Given the description of an element on the screen output the (x, y) to click on. 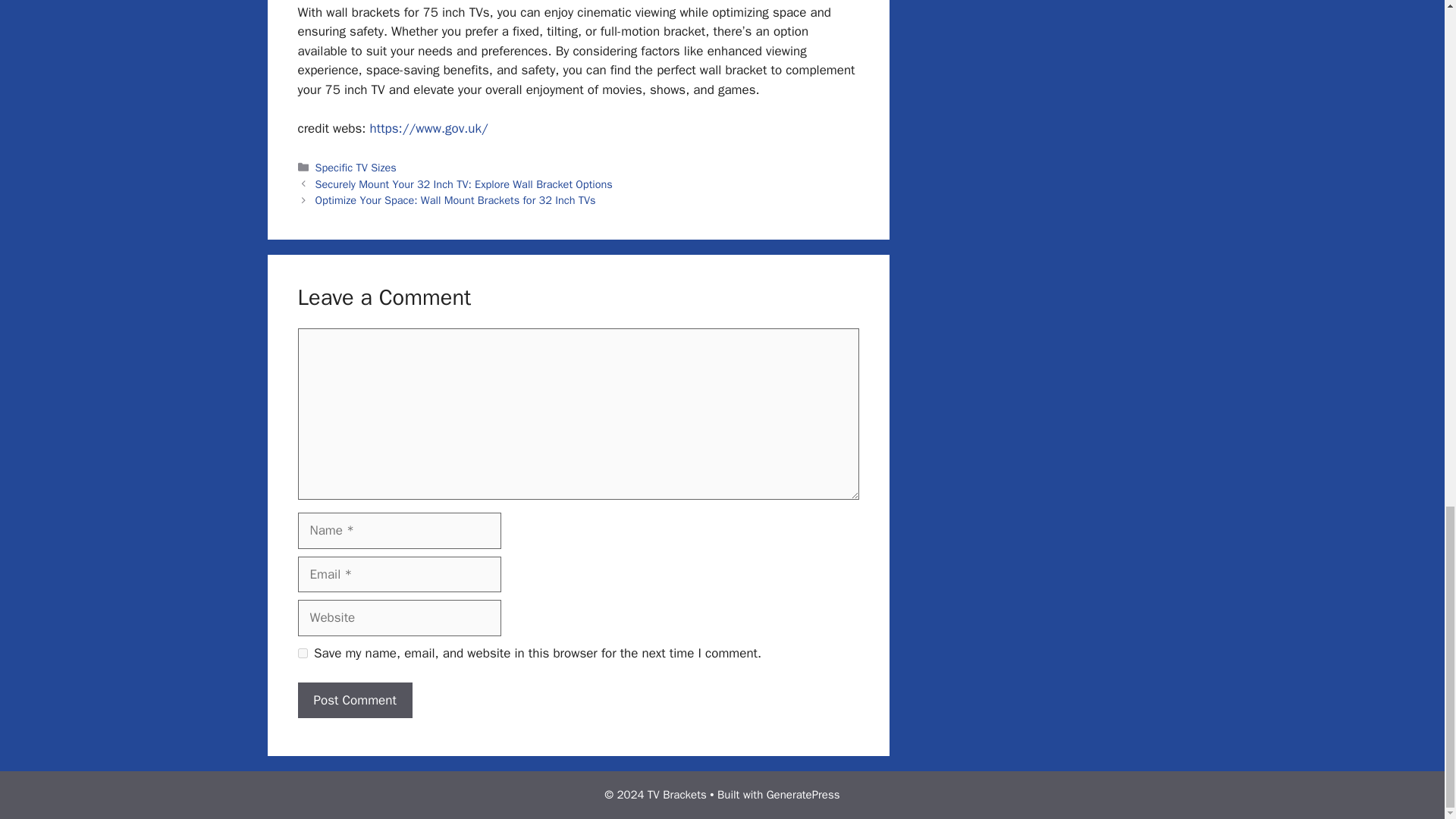
Securely Mount Your 32 Inch TV: Explore Wall Bracket Options (463, 183)
yes (302, 653)
GeneratePress (803, 794)
Optimize Your Space: Wall Mount Brackets for 32 Inch TVs (455, 200)
Specific TV Sizes (355, 167)
Post Comment (354, 700)
Post Comment (354, 700)
